Given the description of an element on the screen output the (x, y) to click on. 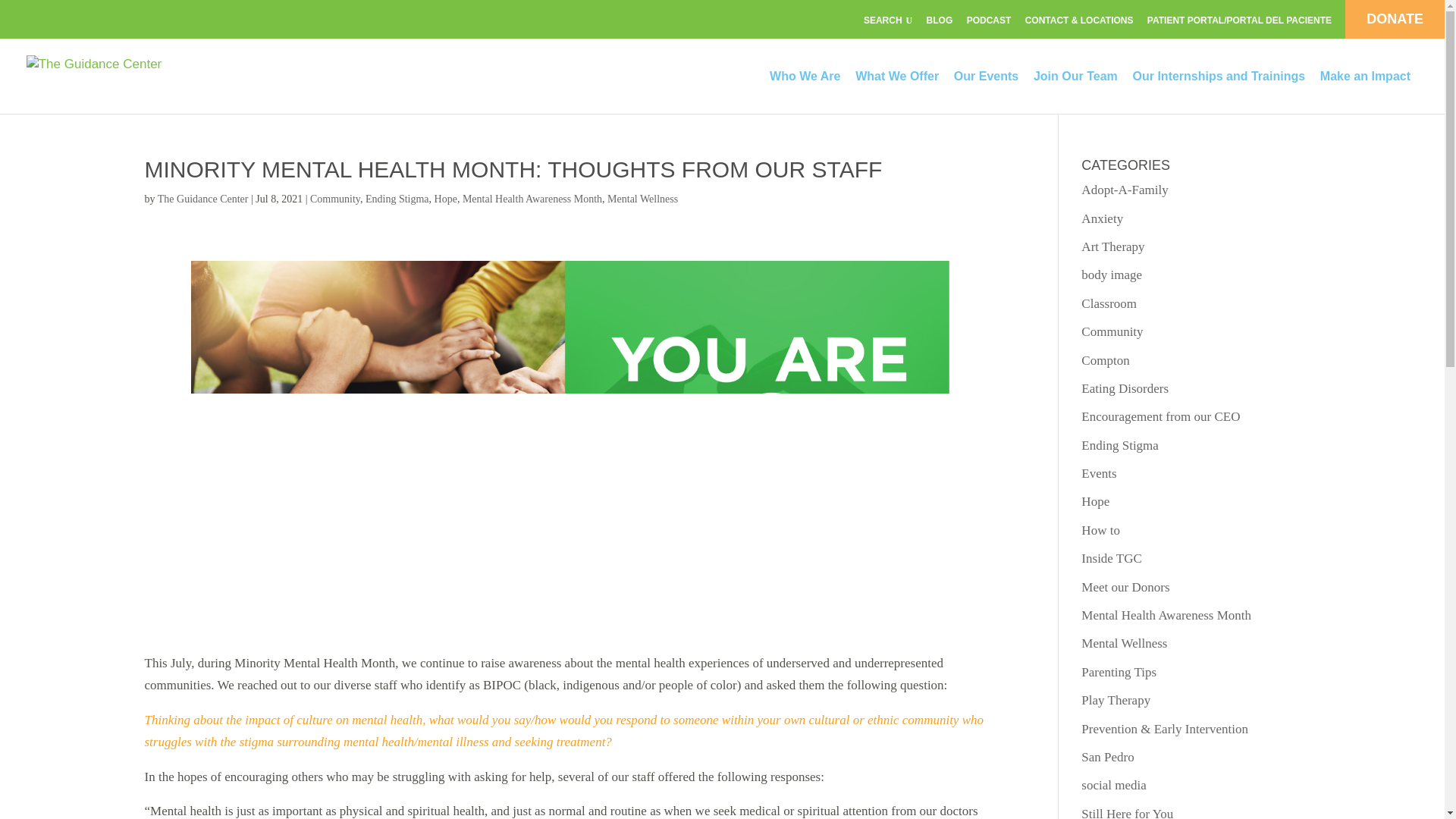
SEARCH (887, 21)
BLOG (939, 21)
Make an Impact (1371, 90)
Posts by The Guidance Center (202, 198)
PODCAST (988, 21)
What We Offer (903, 90)
Who We Are (810, 90)
Our Internships and Trainings (1224, 90)
Join Our Team (1081, 90)
Our Events (991, 90)
